Given the description of an element on the screen output the (x, y) to click on. 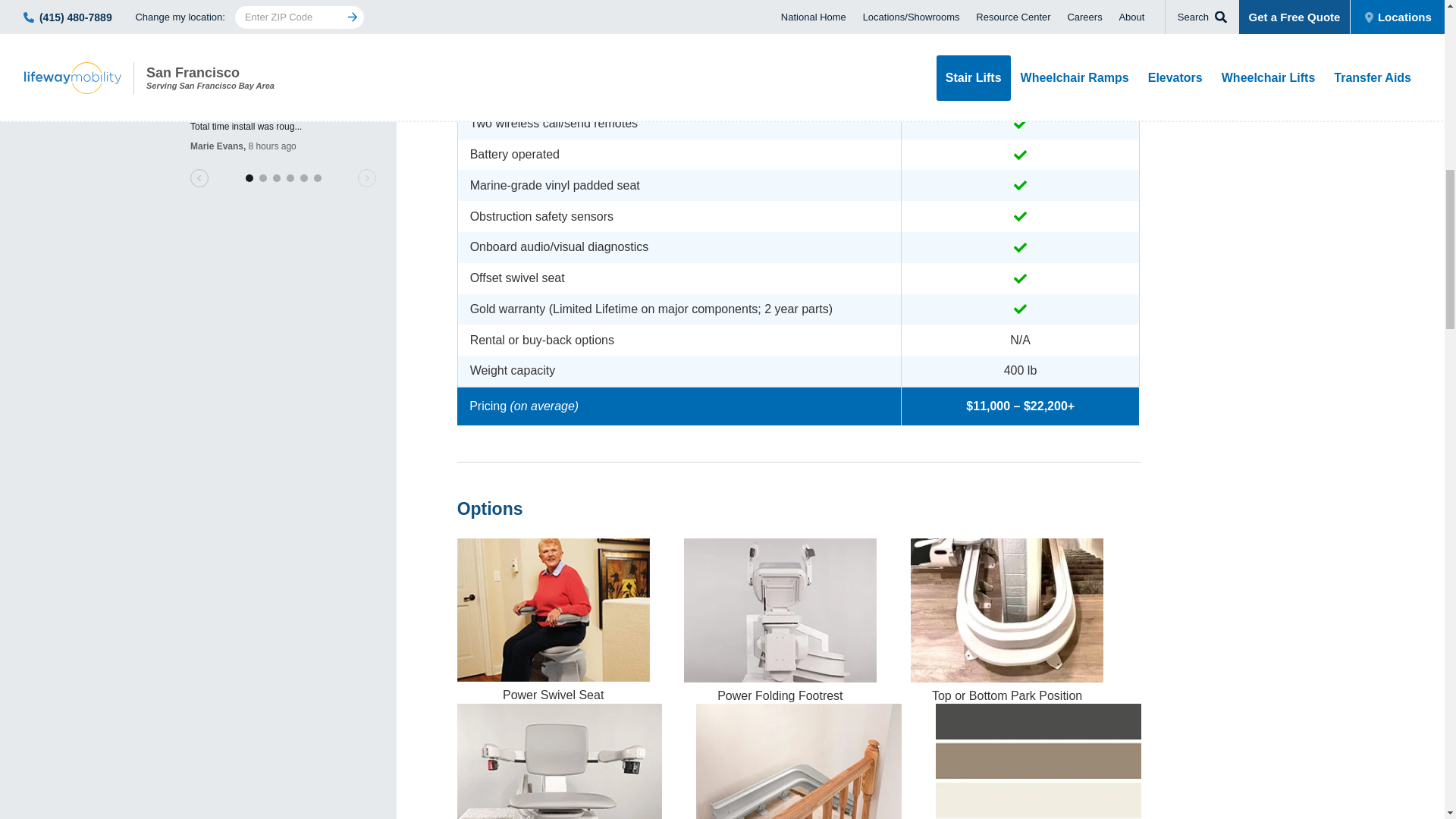
Customer reviews powered by Trustpilot (282, 102)
